Given the description of an element on the screen output the (x, y) to click on. 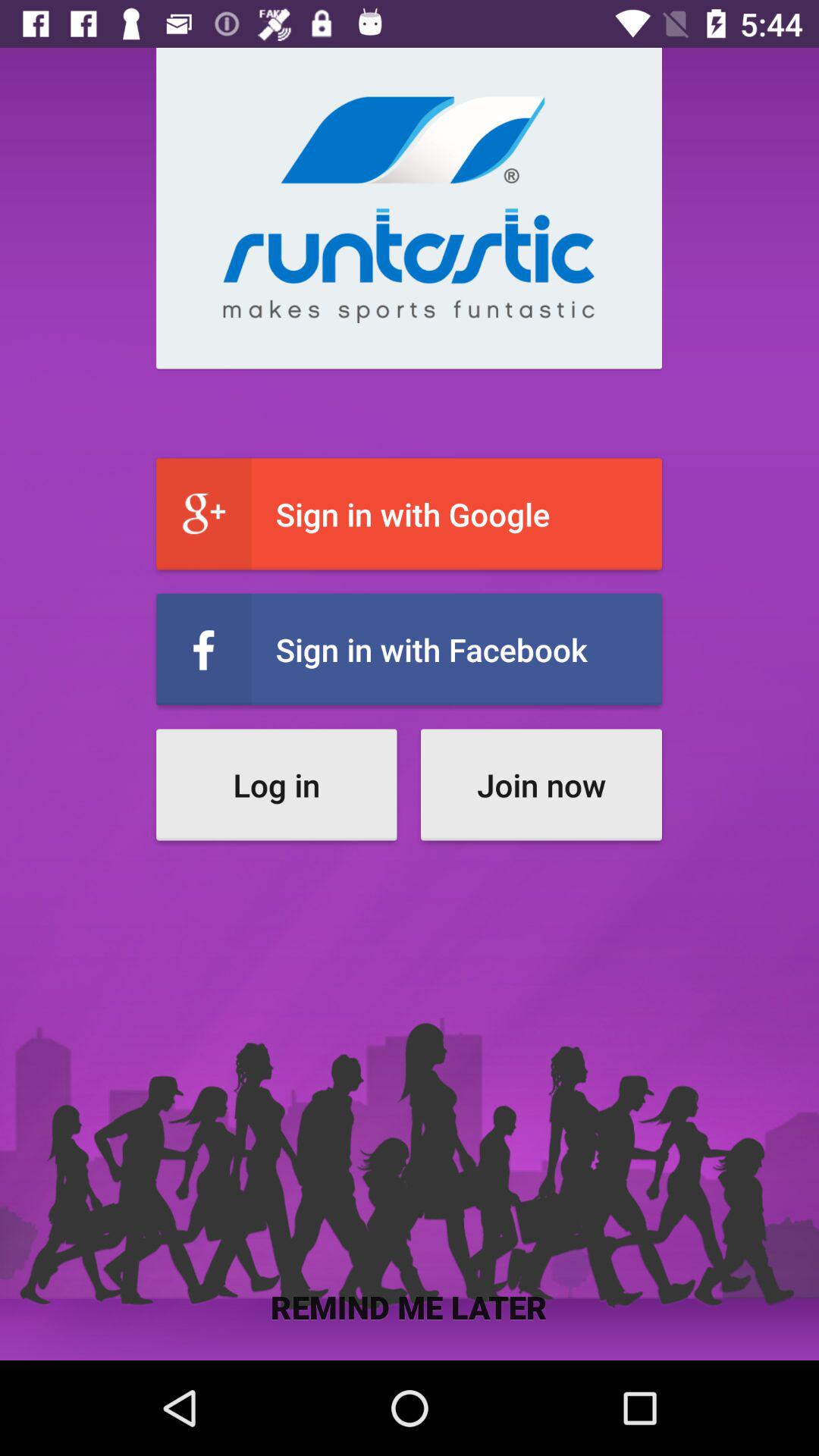
select the icon next to log in icon (541, 784)
